Given the description of an element on the screen output the (x, y) to click on. 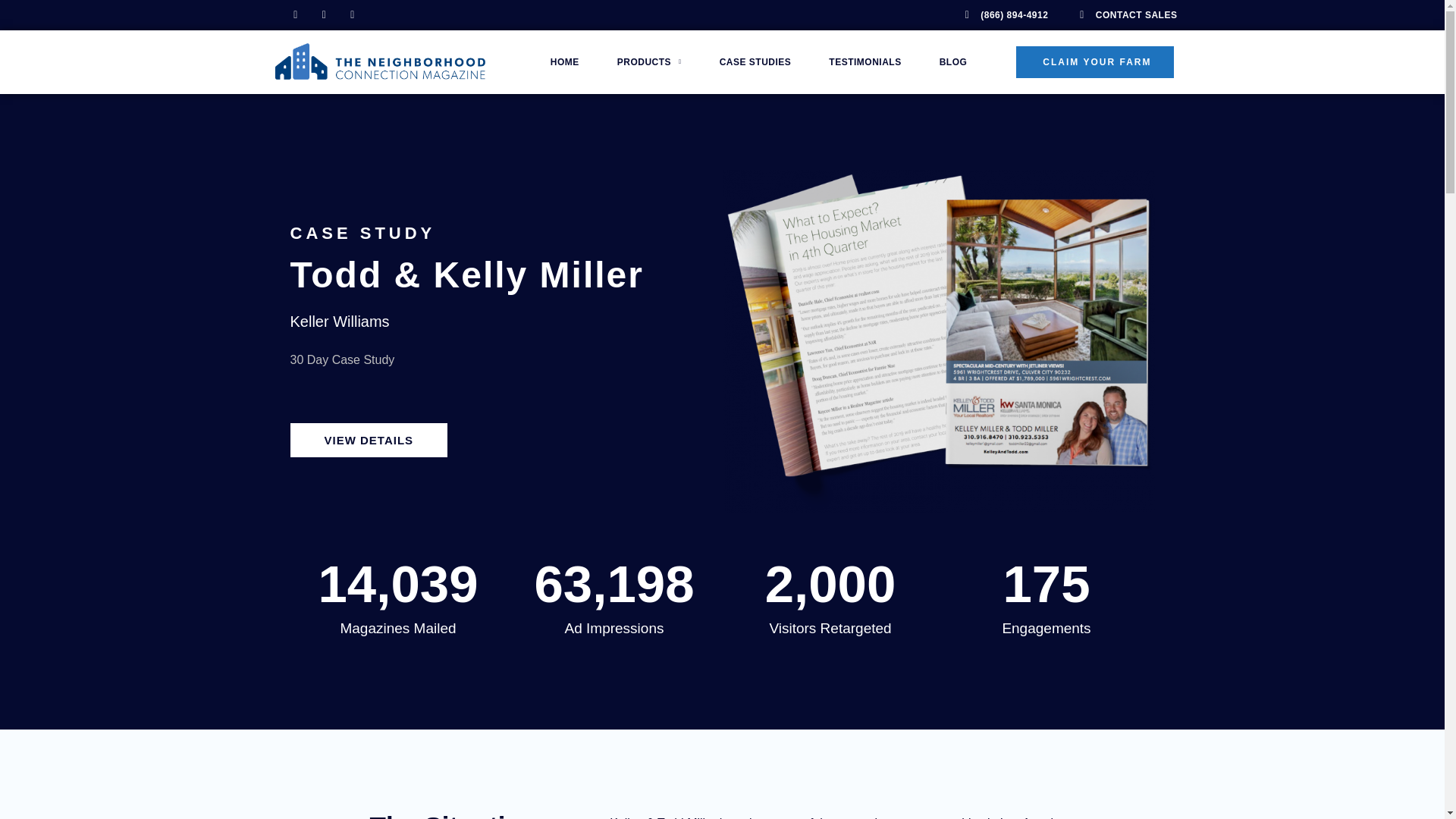
PRODUCTS (649, 62)
CASE STUDIES (755, 62)
CONTACT SALES (1123, 14)
VIEW DETAILS (367, 440)
CLAIM YOUR FARM (1094, 61)
TESTIMONIALS (864, 62)
